Given the description of an element on the screen output the (x, y) to click on. 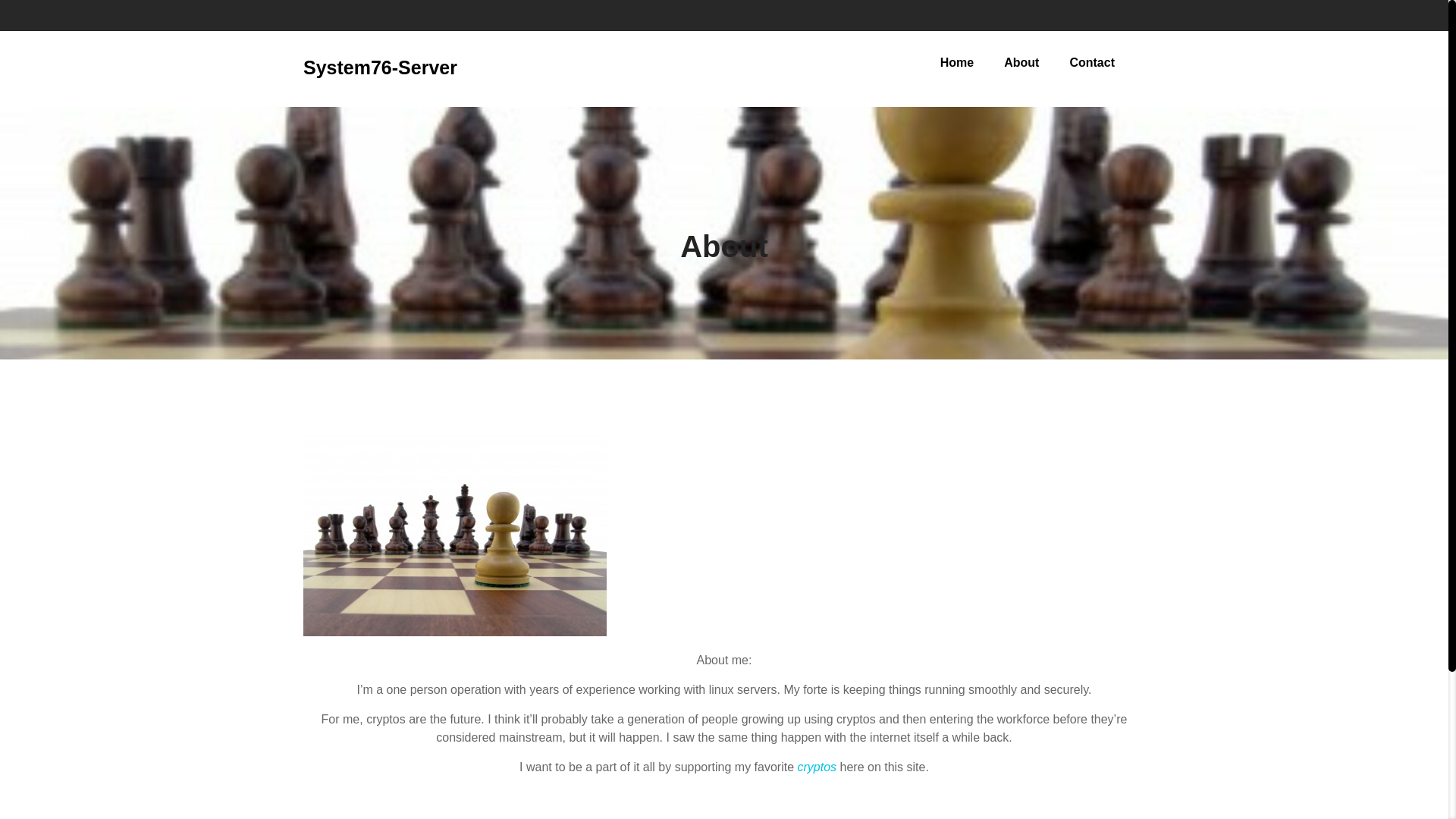
Contact (1091, 62)
System76-Server (379, 67)
cryptos (815, 766)
About (723, 246)
